Given the description of an element on the screen output the (x, y) to click on. 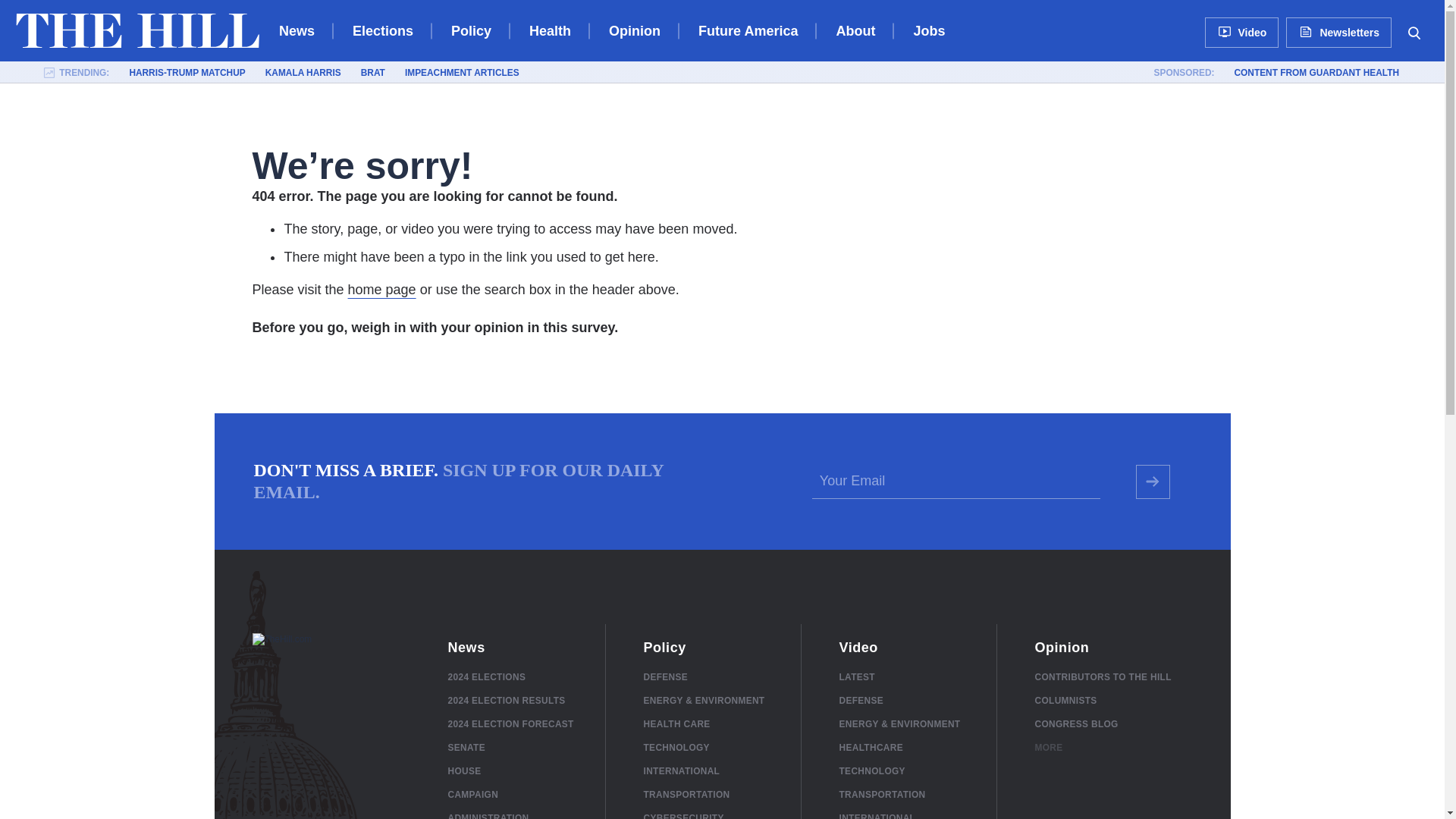
Health (549, 30)
Policy (471, 30)
News (296, 30)
Elections (382, 30)
Send (1152, 481)
Opinion (634, 30)
Search (1414, 31)
